Given the description of an element on the screen output the (x, y) to click on. 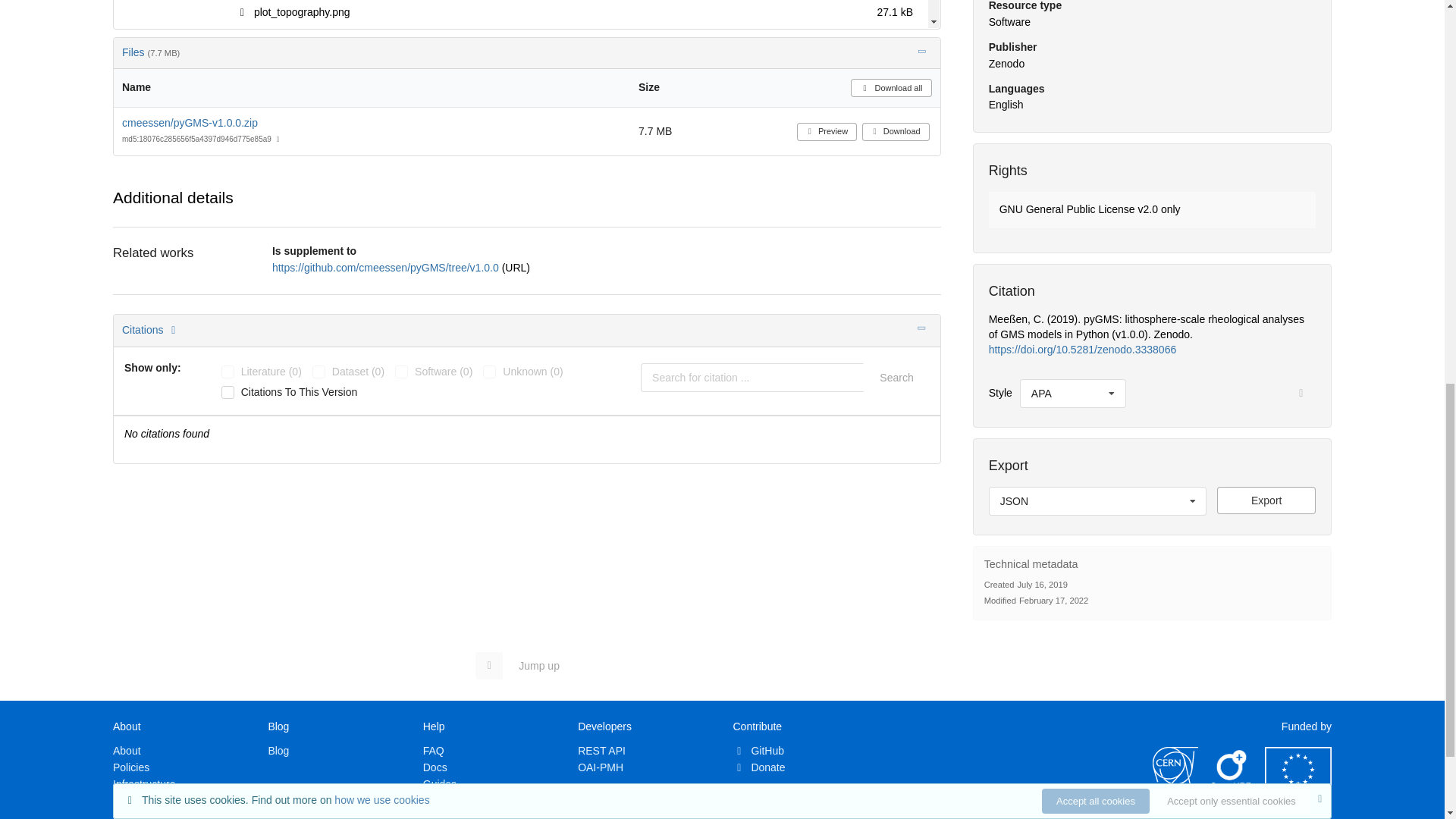
Download all (890, 87)
Preview (527, 13)
Jump up (525, 665)
Opens in new tab (387, 267)
About (127, 750)
Policies (131, 767)
Export (1266, 500)
Download (895, 131)
Download file (1266, 500)
Projects (132, 815)
Infrastructure (143, 784)
Principles (135, 800)
Search (895, 377)
Preview (826, 131)
